Given the description of an element on the screen output the (x, y) to click on. 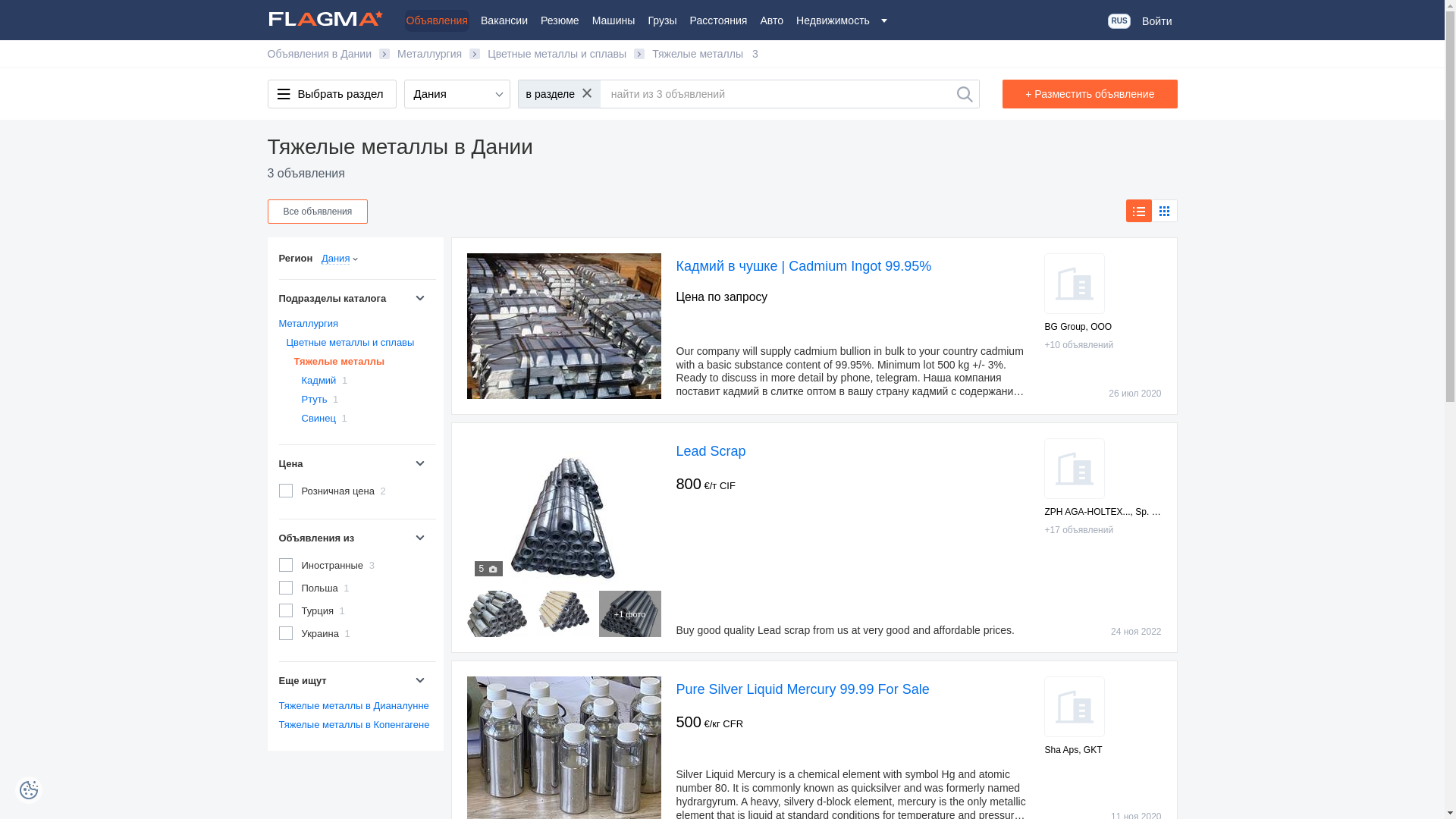
Flagma  (328, 18)
Advertisement (354, 796)
Flagma (328, 18)
